Given the description of an element on the screen output the (x, y) to click on. 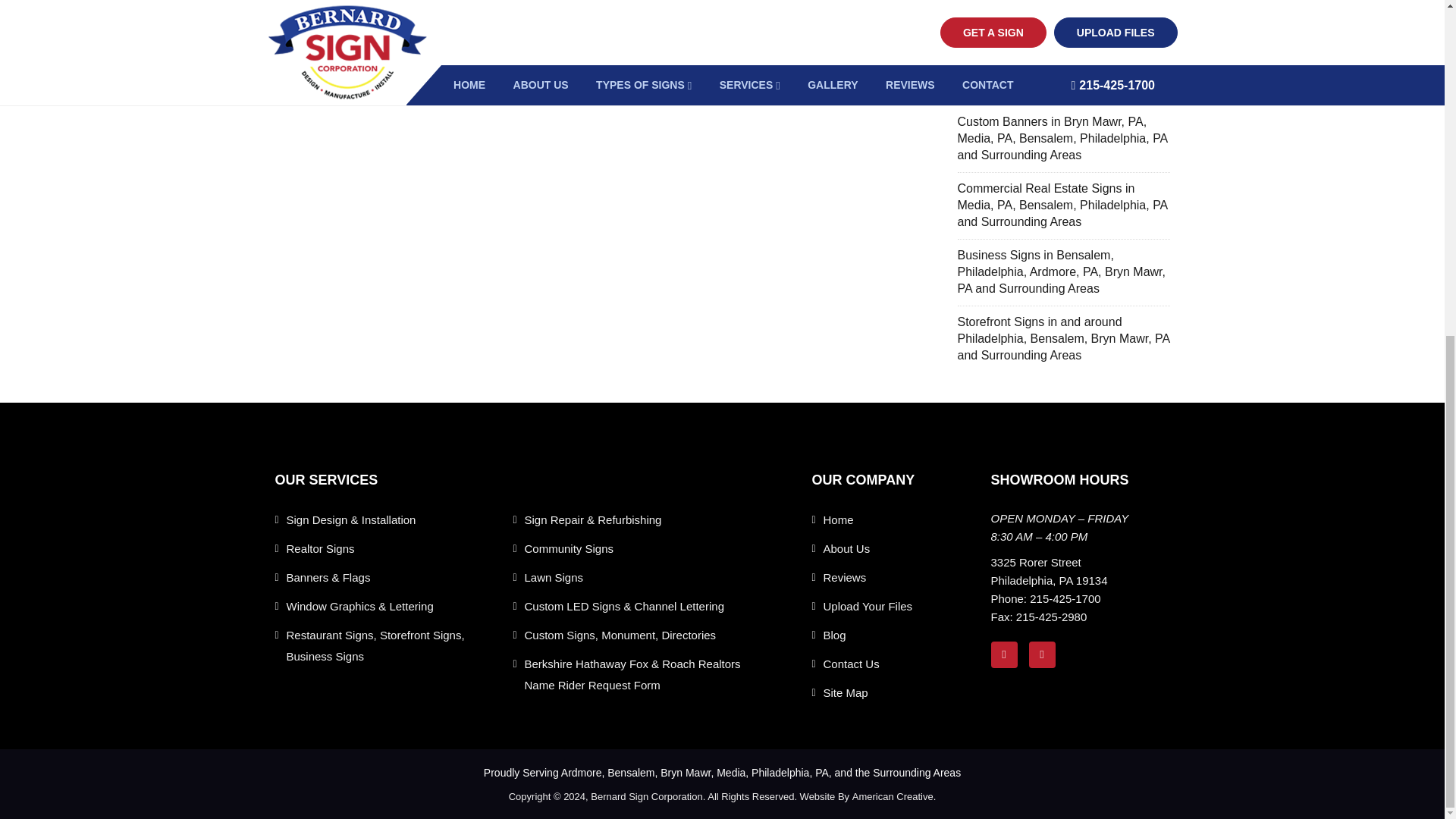
Restaurant Signs, Storefront Signs, Business Signs (399, 645)
Lawn Signs (553, 577)
Realtor Signs (320, 548)
Facebook (1008, 654)
Home (838, 519)
Community Signs (569, 548)
Custom Signs, Monument, Directories (620, 635)
LinkedIn (1046, 654)
